Given the description of an element on the screen output the (x, y) to click on. 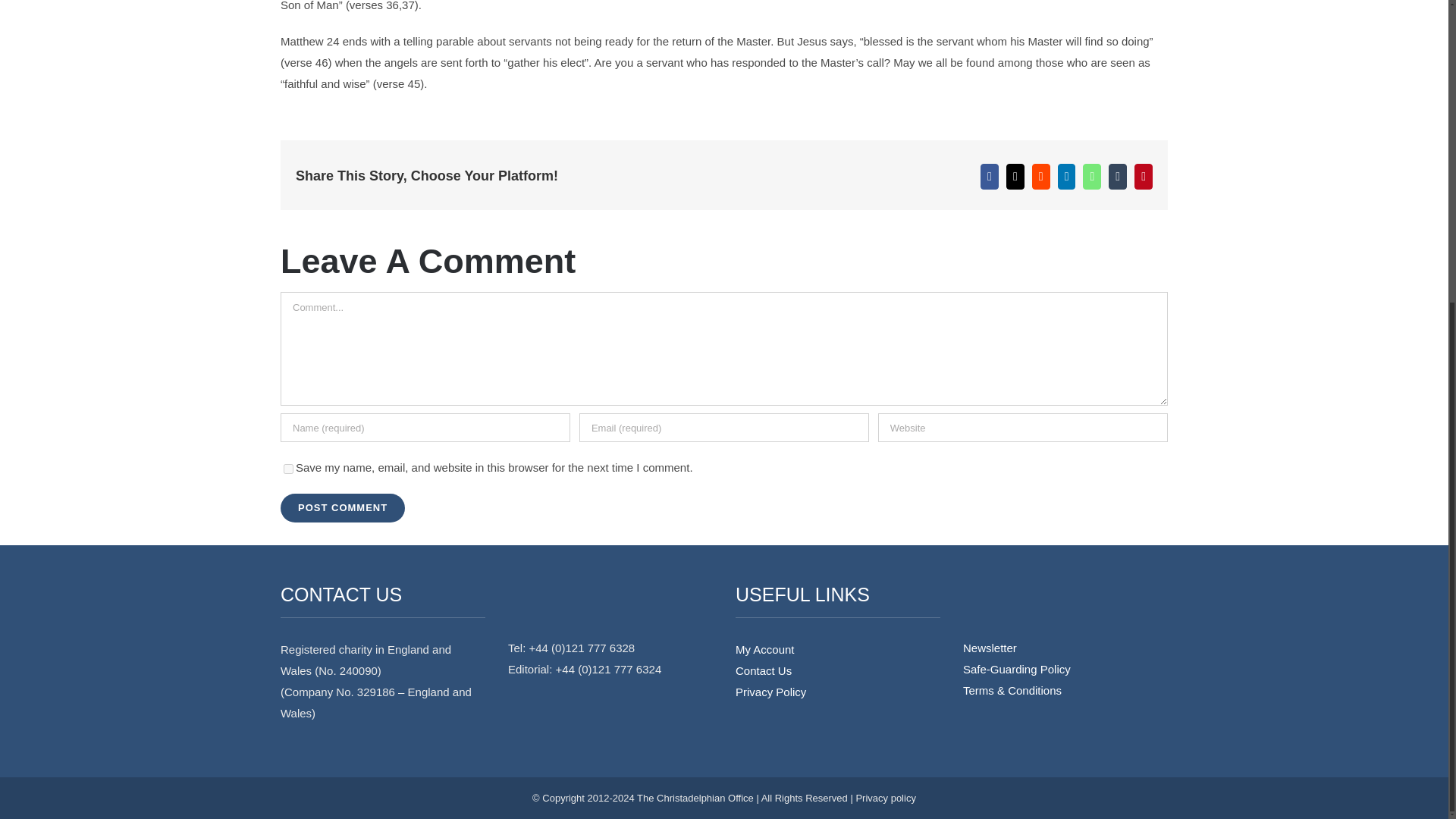
My Account (837, 649)
Contact Us (837, 670)
Reddit (1040, 176)
LinkedIn (1066, 176)
yes (288, 469)
Newsletter (1064, 648)
Tumblr (1117, 176)
X (1015, 176)
Post Comment (342, 507)
Post Comment (342, 507)
Facebook (988, 176)
Facebook (988, 176)
Privacy Policy (837, 691)
Tumblr (1117, 176)
Safe-Guarding Policy (1064, 669)
